Given the description of an element on the screen output the (x, y) to click on. 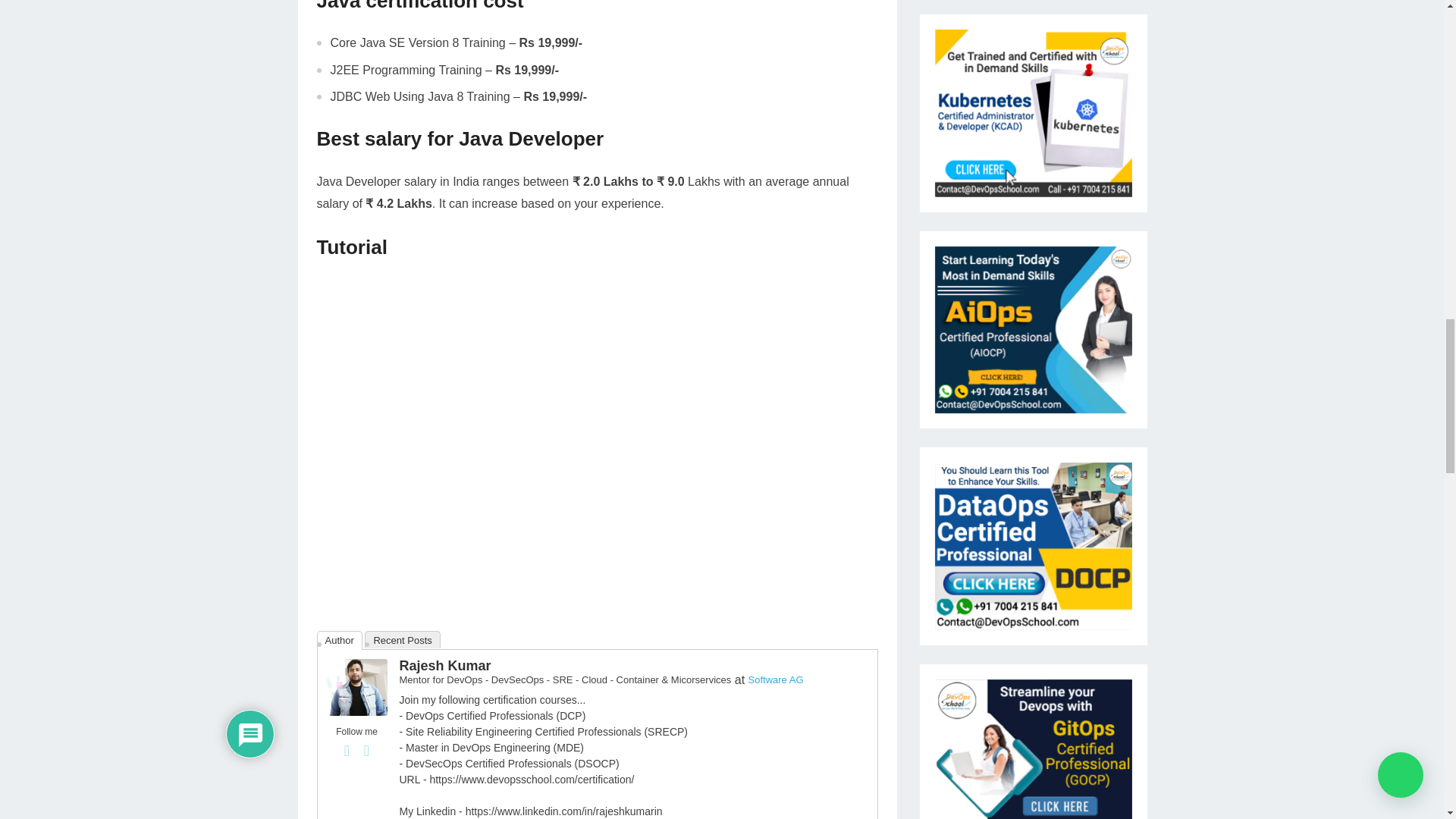
Recent Posts (402, 639)
Rajesh Kumar (444, 665)
Facebook (346, 751)
Twitter (366, 751)
Software AG (775, 679)
Rajesh Kumar (356, 711)
Author (339, 640)
